Given the description of an element on the screen output the (x, y) to click on. 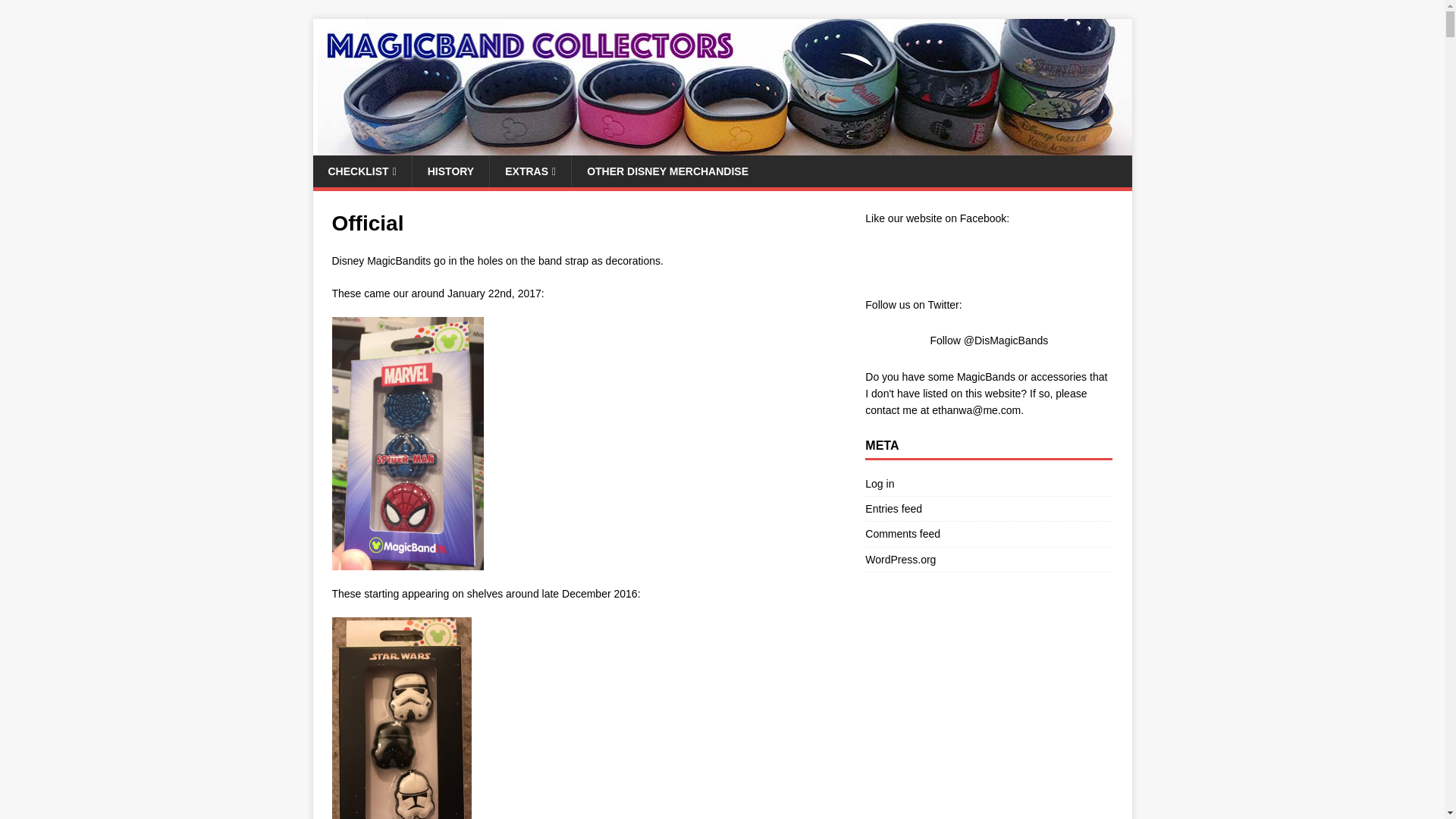
CHECKLIST (361, 171)
